Given the description of an element on the screen output the (x, y) to click on. 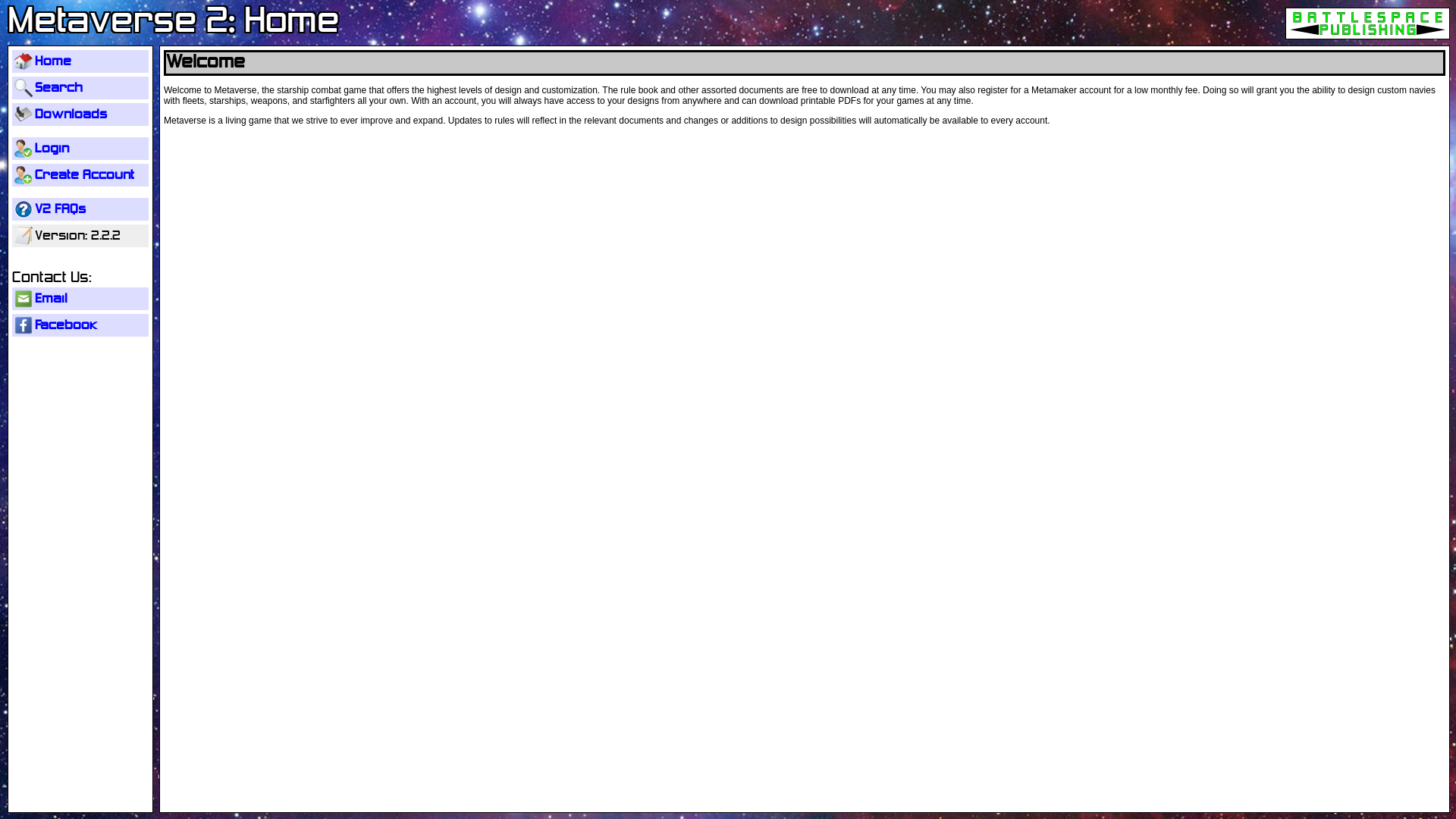
Create Account Element type: text (80, 174)
Email Element type: text (80, 298)
Login Element type: text (80, 148)
Downloads Element type: text (80, 114)
V2 FAQs Element type: text (80, 208)
Search Element type: text (80, 87)
Facebook Element type: text (80, 324)
Home Element type: text (80, 61)
